Given the description of an element on the screen output the (x, y) to click on. 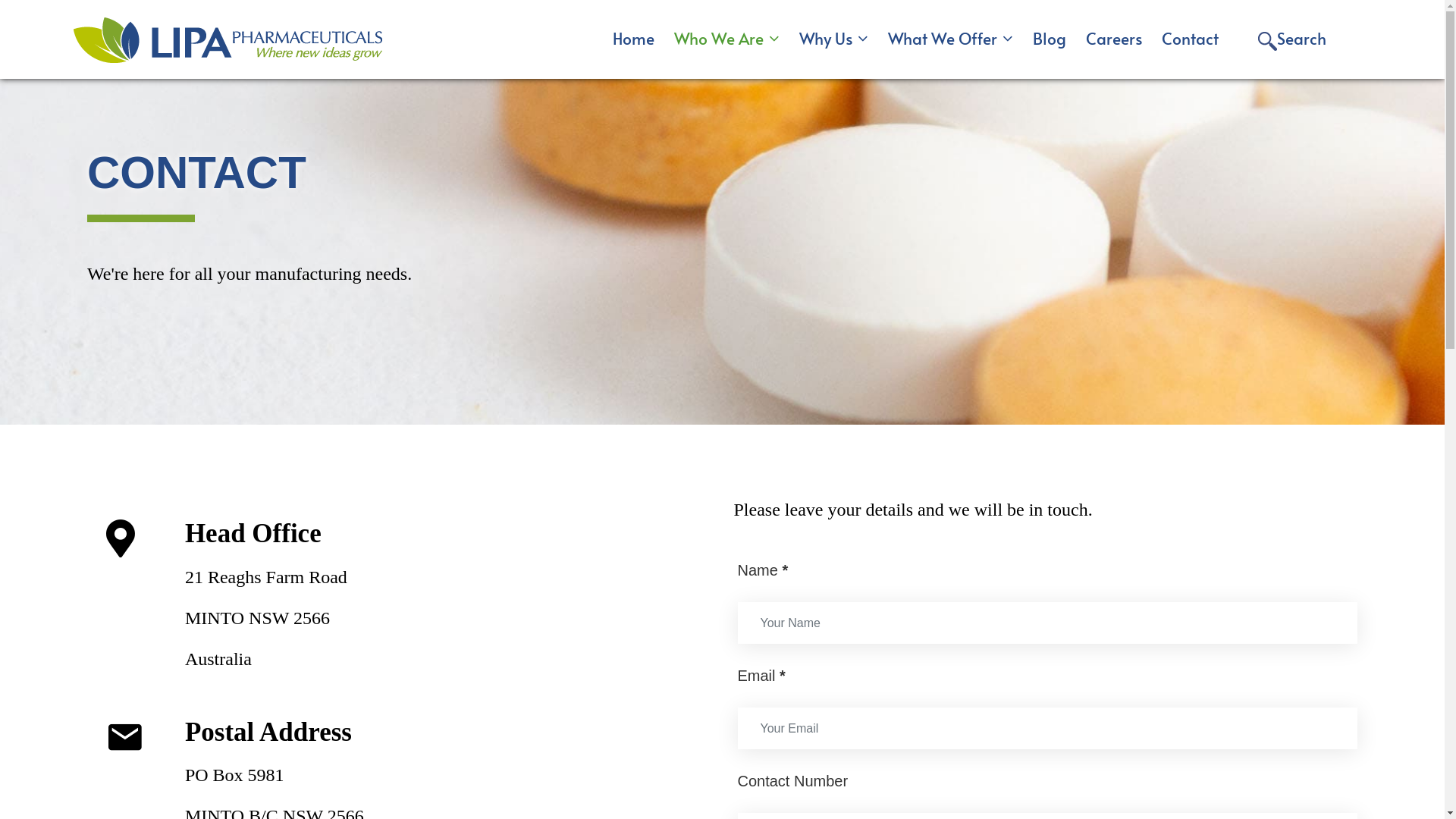
Why Us Element type: text (833, 38)
What We Offer Element type: text (950, 38)
Home Element type: text (633, 38)
Contact Element type: text (1189, 38)
Careers Element type: text (1113, 38)
Search Element type: text (1291, 39)
Who We Are Element type: text (726, 38)
Blog Element type: text (1049, 38)
